Given the description of an element on the screen output the (x, y) to click on. 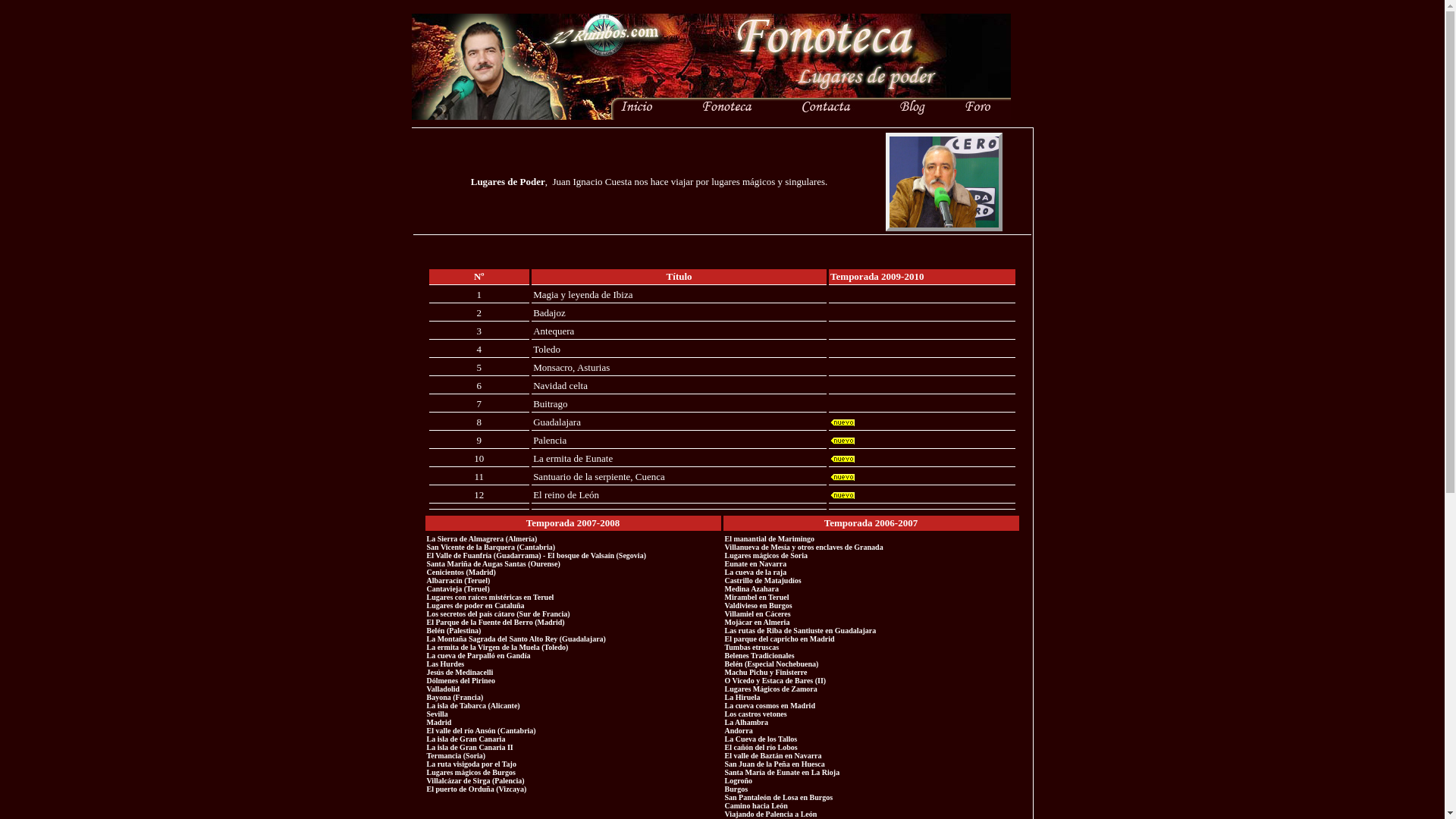
La ermita de la Virgen de la Muela (Toledo) Element type: text (496, 647)
El Parque de la Fuente del Berro (Madrid)    Element type: text (498, 622)
El manantial de Marimingo  Element type: text (770, 538)
La cueva cosmos en Madrid  Element type: text (770, 705)
Belenes Tradicionales  Element type: text (760, 655)
Andorra Element type: text (738, 730)
Magia y leyenda de Ibiza Element type: text (582, 293)
Tumbas etruscas Element type: text (751, 647)
Cantavieja (Teruel) Element type: text (457, 588)
Madrid       Element type: text (445, 722)
El parque del capricho en Madrid Element type: text (779, 638)
La isla de Tabarca (Alicante)  Element type: text (473, 705)
Cenicientos (Madrid) Element type: text (460, 571)
Los castros vetones Element type: text (755, 713)
Eunate en Navarra  Element type: text (756, 563)
La Hiruela Element type: text (742, 697)
Burgos  Element type: text (736, 788)
Santuario de la serpiente, Cuenca Element type: text (599, 476)
La Cueva de los Tallos   Element type: text (762, 738)
Bayona (Francia)    Element type: text (457, 697)
La cueva de la raja Element type: text (755, 571)
O Vicedo y Estaca de Bares (II) Element type: text (775, 680)
Sevilla       Element type: text (443, 713)
Medina Azahara       Element type: text (757, 588)
Mirambel en Teruel Element type: text (756, 597)
San Vicente de la Barquera (Cantabria) Element type: text (490, 546)
La isla de Gran Canaria  Element type: text (466, 738)
Monsacro, Asturias Element type: text (571, 367)
Valladolid Element type: text (442, 688)
La ruta visigoda por el Tajo       Element type: text (476, 763)
Buitrago Element type: text (550, 402)
Toledo Element type: text (546, 348)
Termancia (Soria)       Element type: text (461, 755)
Guadalajara Element type: text (556, 421)
Navidad celta Element type: text (560, 385)
La isla de Gran Canaria II  Element type: text (470, 747)
La ermita de Eunate Element type: text (572, 458)
Las Hurdes Element type: text (445, 663)
Machu Pichu y Finisterre       Element type: text (771, 672)
La Alhambra Element type: text (746, 722)
Las rutas de Riba de Santiuste en Guadalajara Element type: text (800, 630)
Badajoz Element type: text (549, 311)
   Element type: text (466, 722)
Palencia Element type: text (549, 439)
Antequera Element type: text (553, 329)
Valdivieso en Burgos   Element type: text (760, 605)
